Given the description of an element on the screen output the (x, y) to click on. 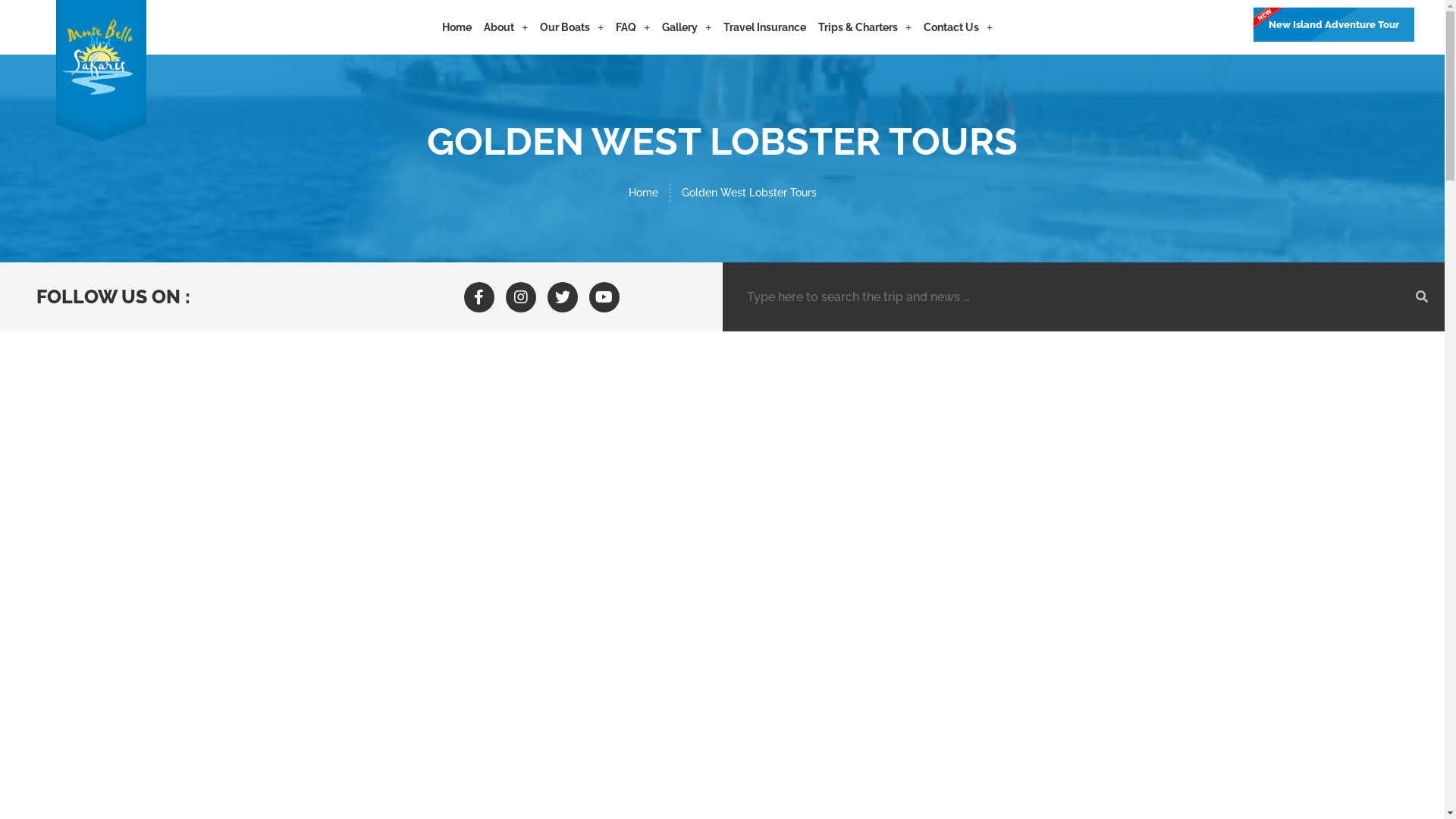
Home Element type: text (456, 26)
Travel Insurance Element type: text (764, 26)
Our Boats Element type: text (571, 26)
FAQ Element type: text (632, 26)
Home Element type: text (642, 192)
Contact Us Element type: text (957, 26)
Search Element type: hover (1068, 297)
About Element type: text (505, 26)
Trips & Charters Element type: text (864, 26)
Gallery Element type: text (686, 26)
New Island Adventure Tour Element type: text (1333, 24)
